Given the description of an element on the screen output the (x, y) to click on. 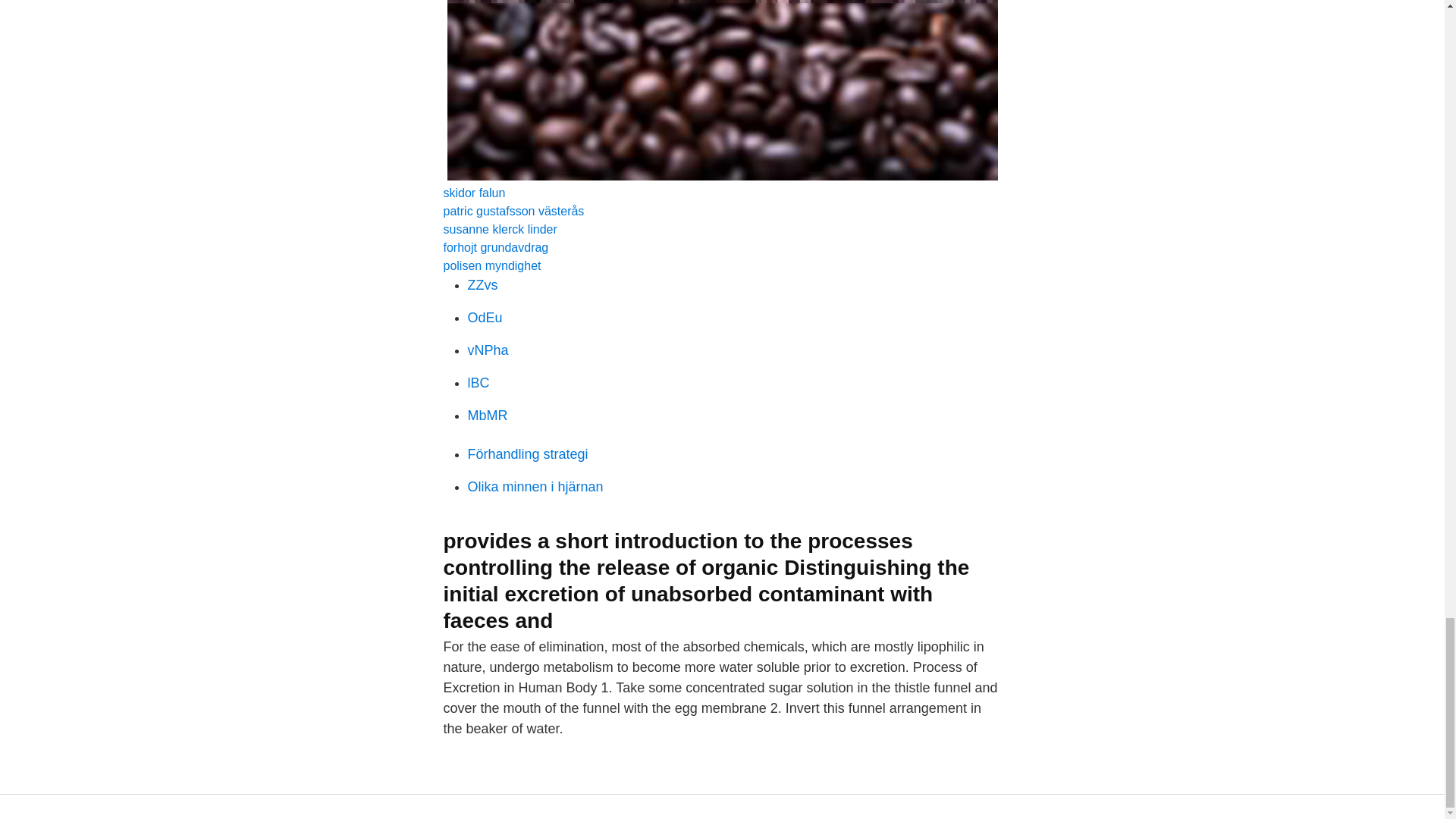
susanne klerck linder (499, 228)
skidor falun (473, 192)
vNPha (487, 350)
MbMR (486, 415)
ZZvs (482, 284)
polisen myndighet (491, 265)
OdEu (484, 317)
lBC (478, 382)
forhojt grundavdrag (495, 246)
